Given the description of an element on the screen output the (x, y) to click on. 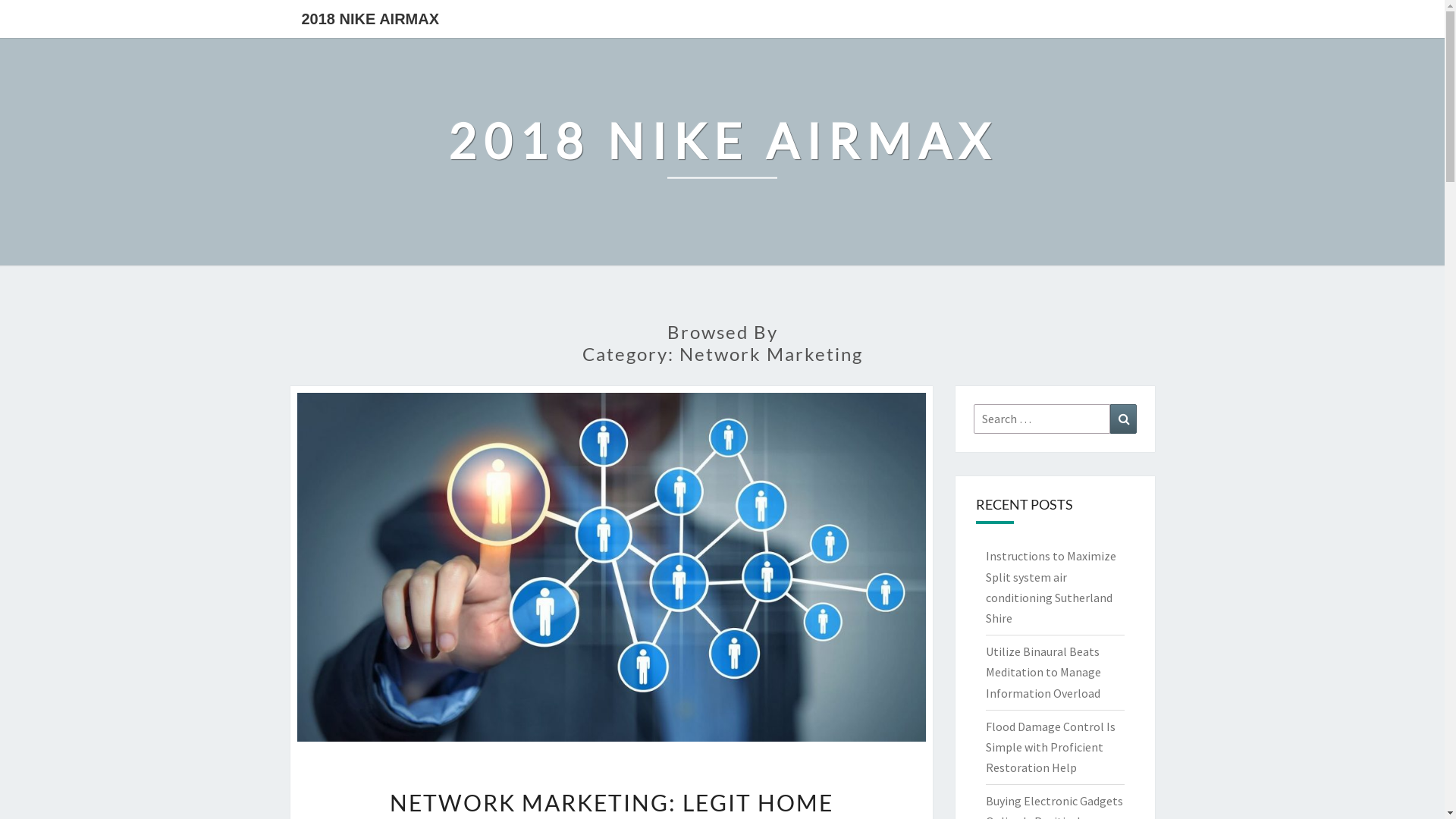
Search for: Element type: hover (1041, 418)
2018 NIKE AIRMAX Element type: text (369, 18)
2018 NIKE AIRMAX Element type: text (721, 151)
Search Element type: text (1123, 418)
